Given the description of an element on the screen output the (x, y) to click on. 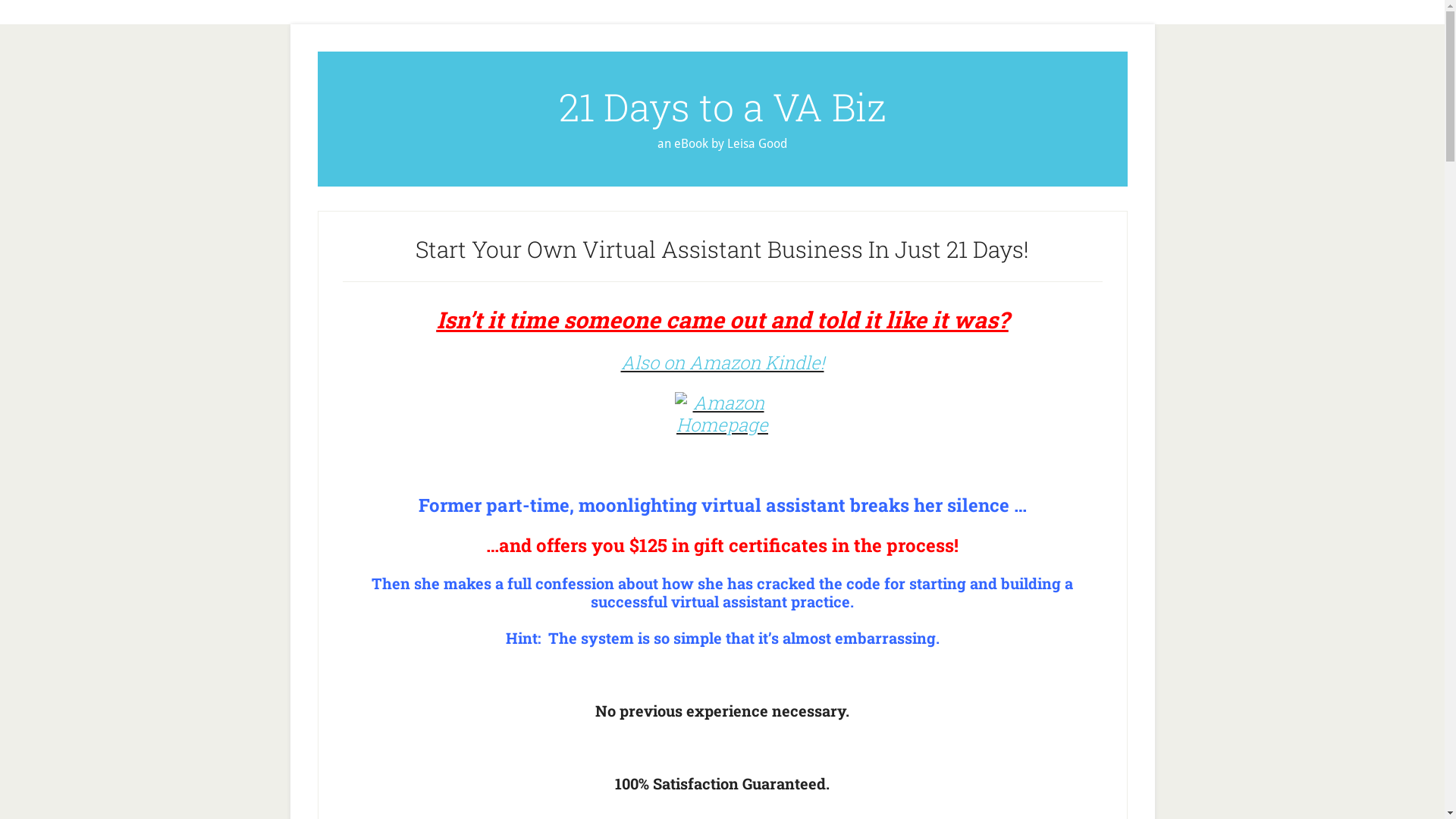
Also on Amazon Kindle! Element type: text (721, 362)
21 Days to a VA Biz Element type: text (721, 106)
